Given the description of an element on the screen output the (x, y) to click on. 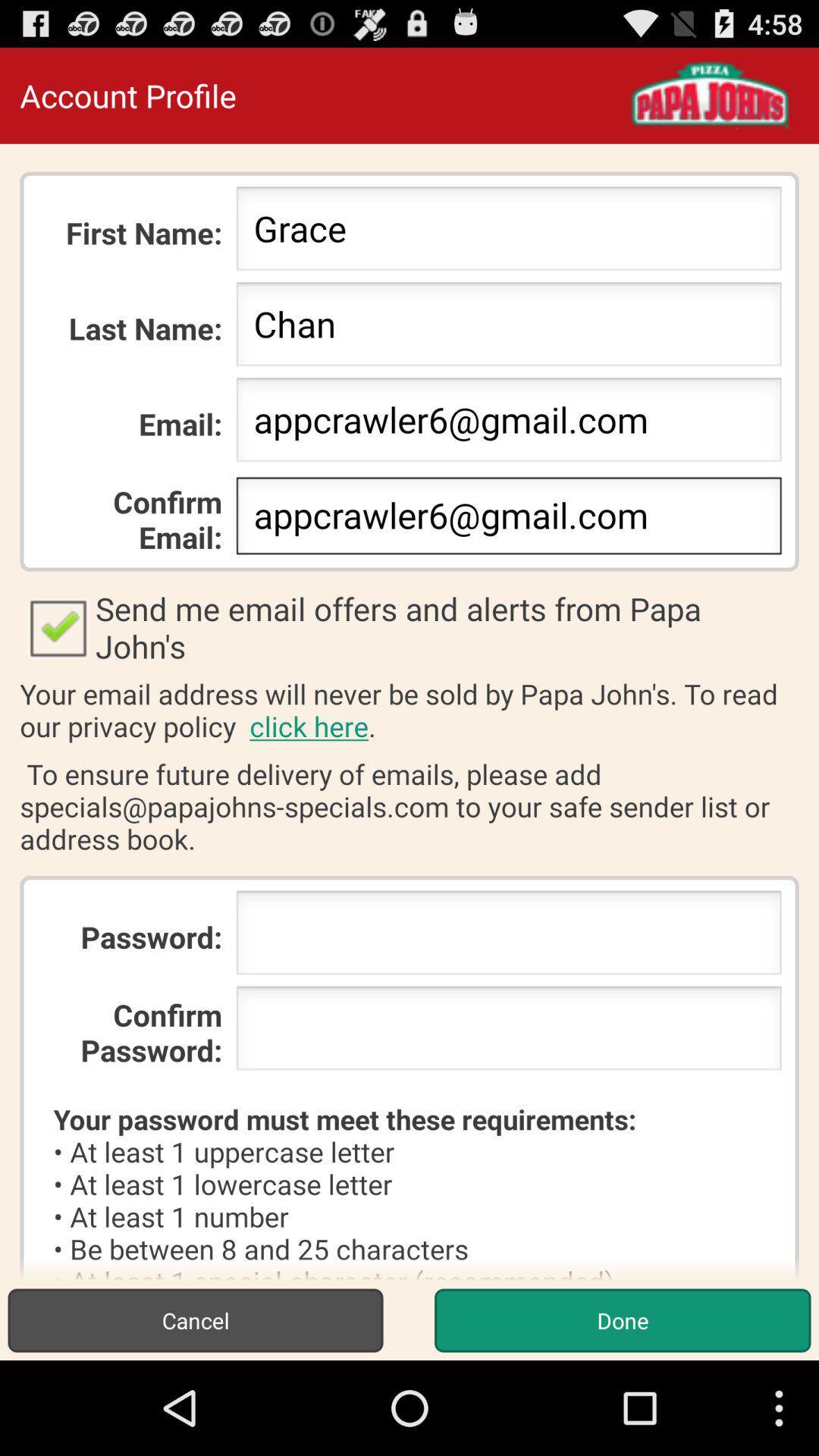
turn on icon to the right of the last name: item (508, 328)
